Given the description of an element on the screen output the (x, y) to click on. 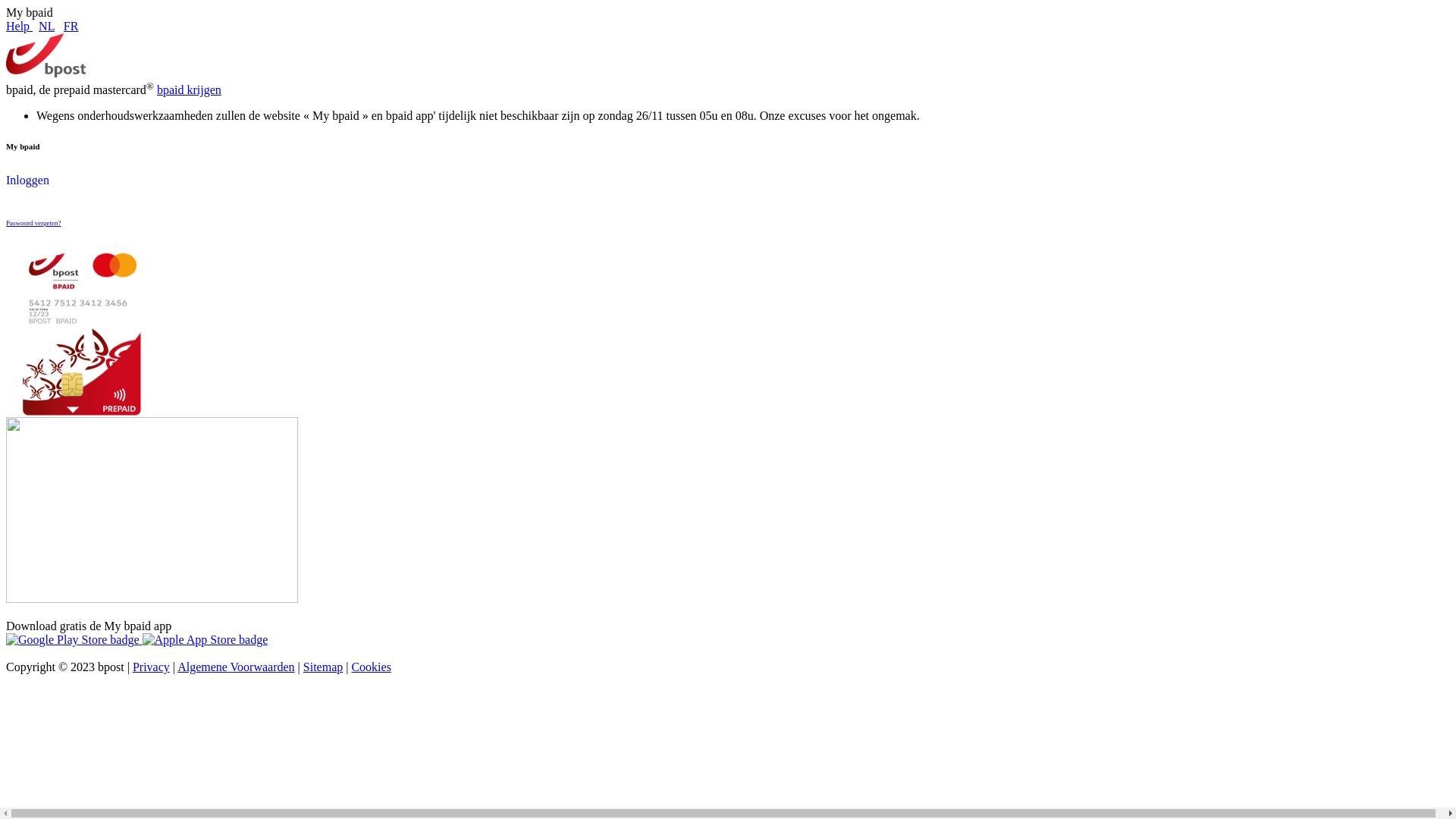
Cookies Element type: text (370, 666)
FR Element type: text (70, 25)
Inloggen Element type: text (27, 179)
NL Element type: text (46, 25)
Privacy Element type: text (150, 666)
Sitemap Element type: text (322, 666)
Algemene Voorwaarden Element type: text (235, 666)
Paswoord vergeten? Element type: text (33, 222)
bpaid krijgen Element type: text (188, 89)
Help Element type: text (19, 25)
